Given the description of an element on the screen output the (x, y) to click on. 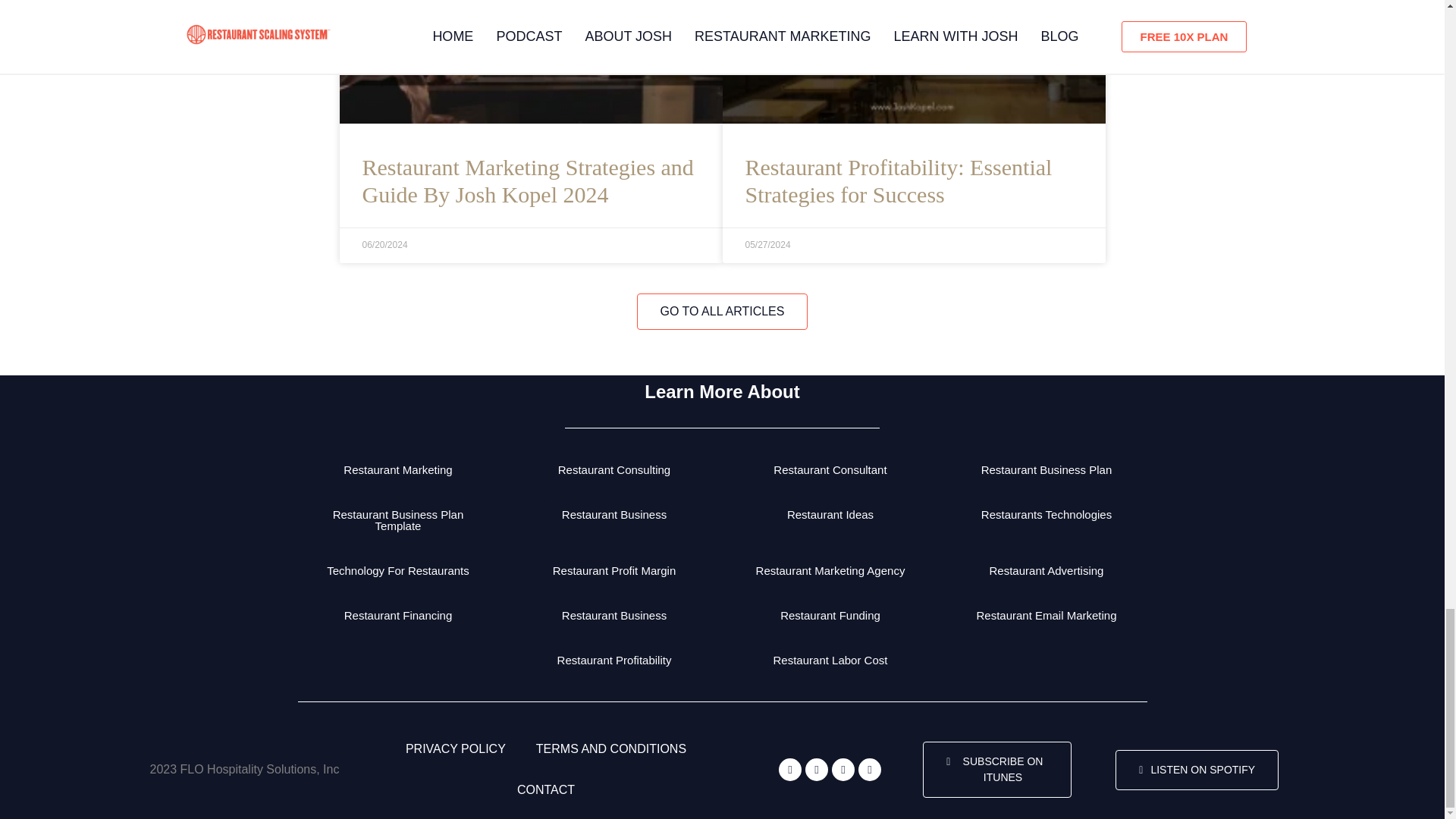
Restaurant Consulting (614, 469)
Restaurant Business Plan (1046, 469)
Restaurant Consultant (829, 469)
Restaurant Marketing Strategies and Guide By Josh Kopel 2024 (528, 180)
Restaurant Profitability: Essential Strategies for Success (897, 180)
Restaurant Marketing (397, 469)
GO TO ALL ARTICLES (722, 311)
